Given the description of an element on the screen output the (x, y) to click on. 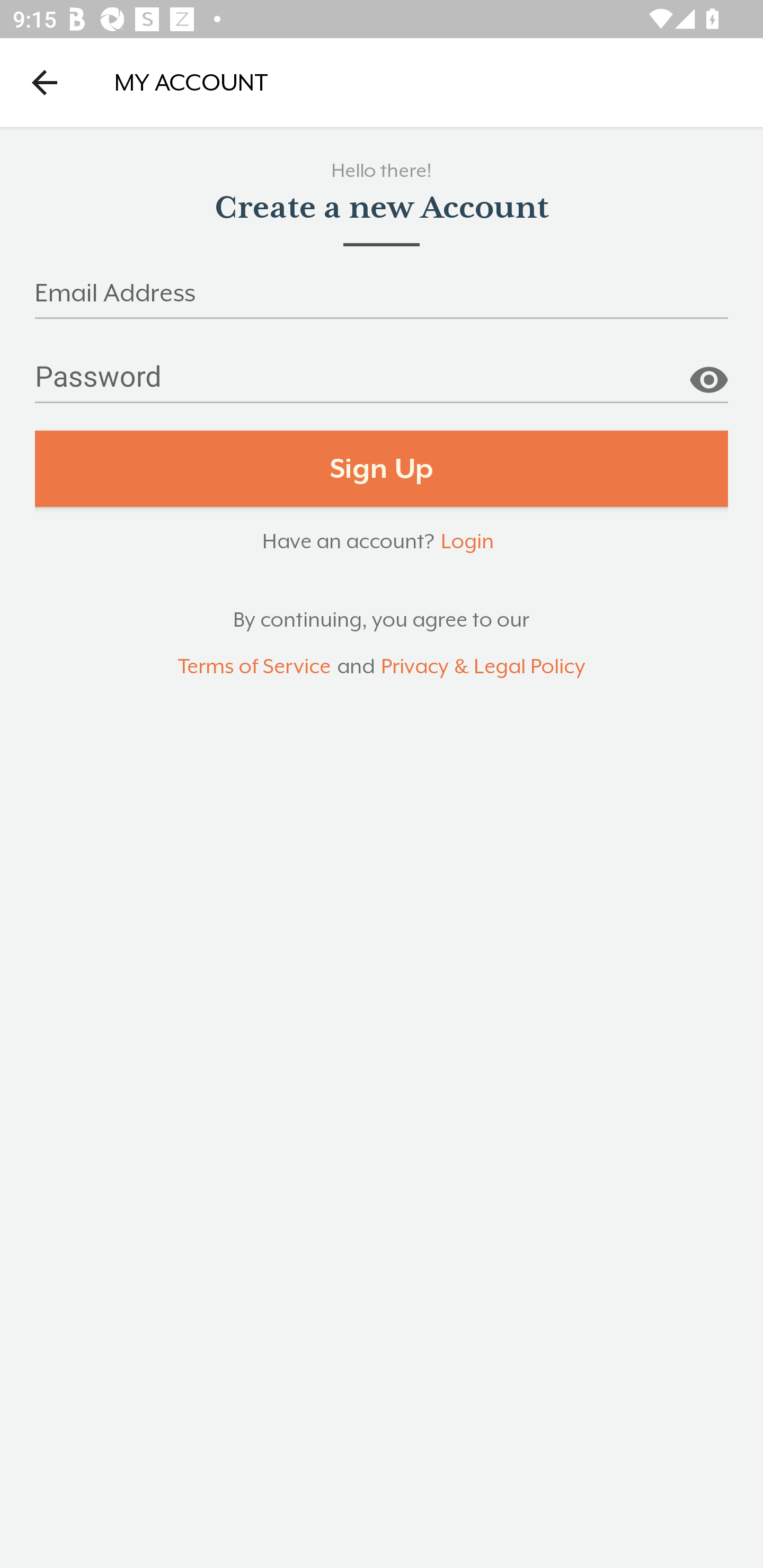
Navigate up (44, 82)
Email Address (381, 299)
 (708, 372)
Password (381, 383)
Sign Up (381, 468)
Login (467, 540)
Terms of Service (253, 666)
Privacy & Legal Policy (483, 666)
